Given the description of an element on the screen output the (x, y) to click on. 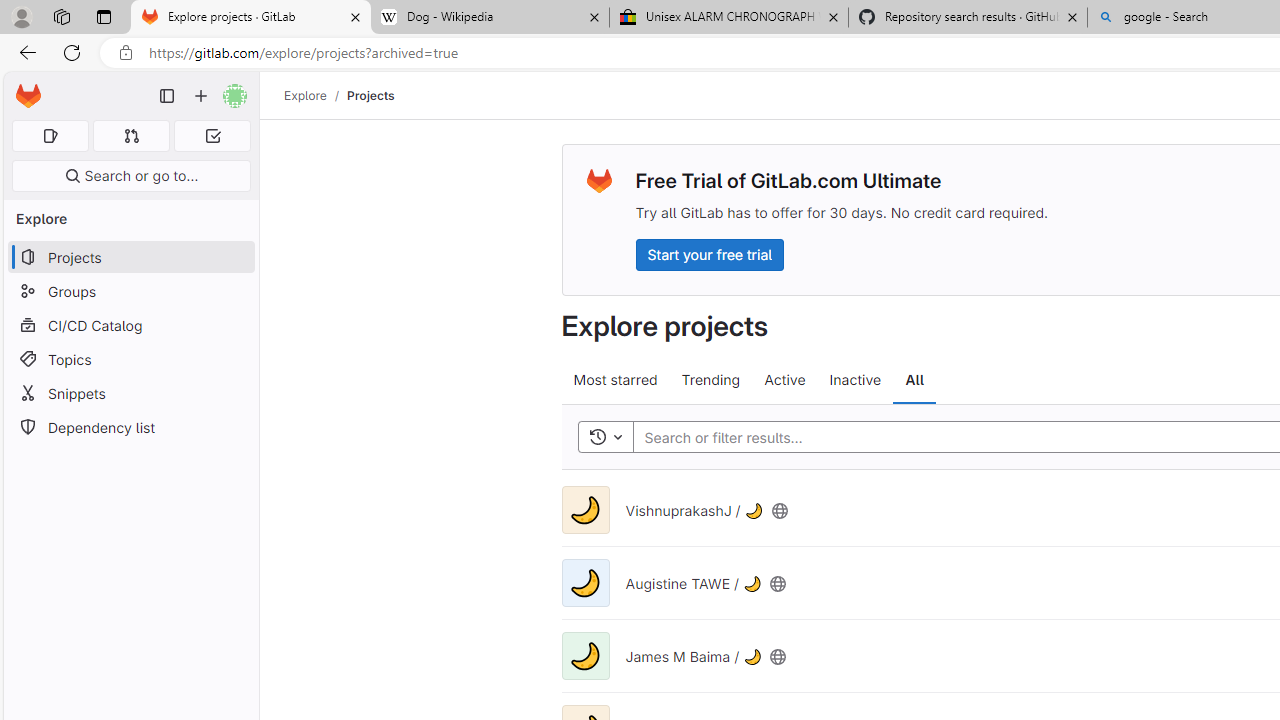
Explore/ (316, 95)
Primary navigation sidebar (167, 96)
Start your free trial (709, 254)
Toggle history (605, 437)
Explore (305, 95)
Trending (710, 379)
Class: s16 (778, 656)
Topics (130, 358)
Projects (370, 95)
Assigned issues 0 (50, 136)
Create new... (201, 96)
